Given the description of an element on the screen output the (x, y) to click on. 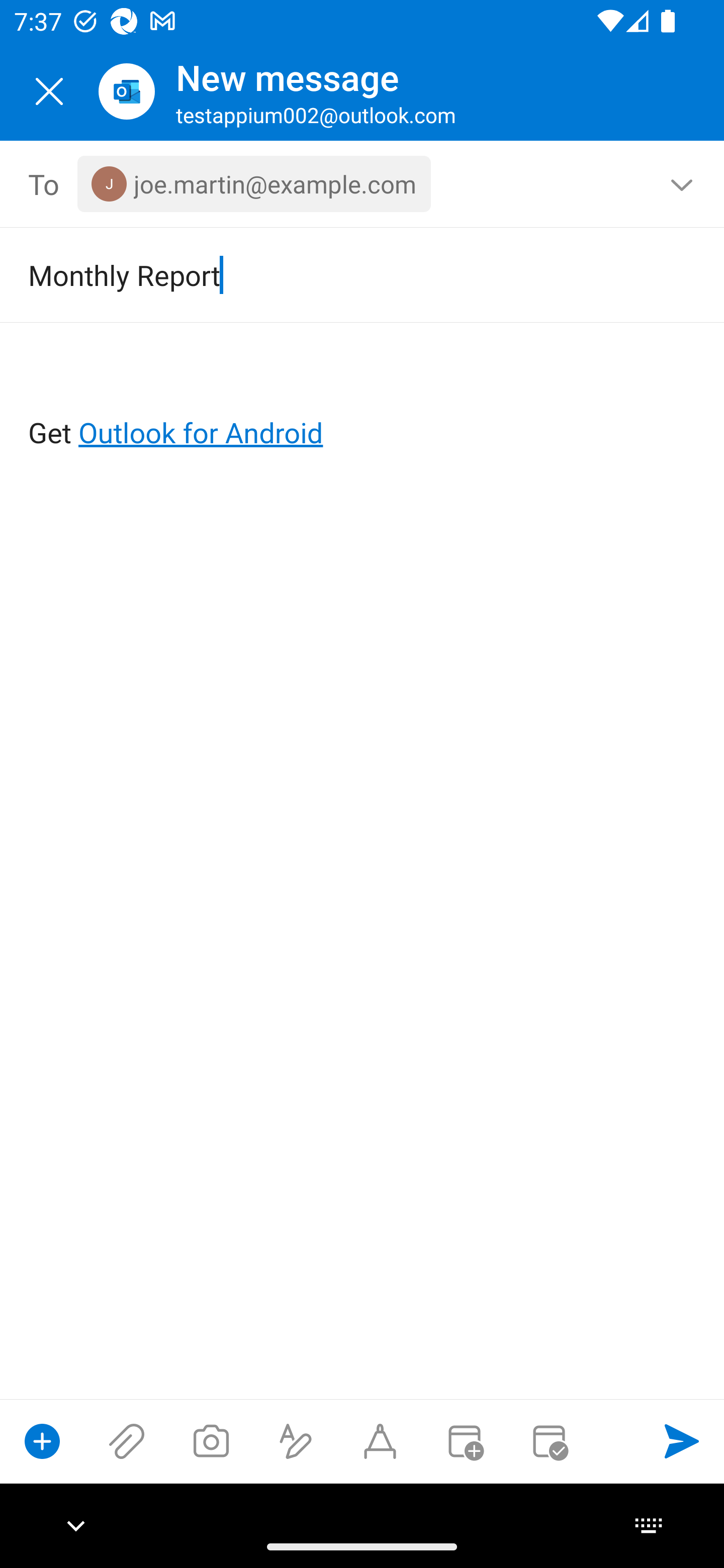
Close (49, 91)
To, 1 recipient <joe.martin@example.com> (362, 184)
Monthly Report (333, 274)


Get Outlook for Android (363, 400)
Show compose options (42, 1440)
Attach files (126, 1440)
Take a photo (210, 1440)
Show formatting options (295, 1440)
Start Ink compose (380, 1440)
Convert to event (464, 1440)
Send availability (548, 1440)
Send (681, 1440)
